Given the description of an element on the screen output the (x, y) to click on. 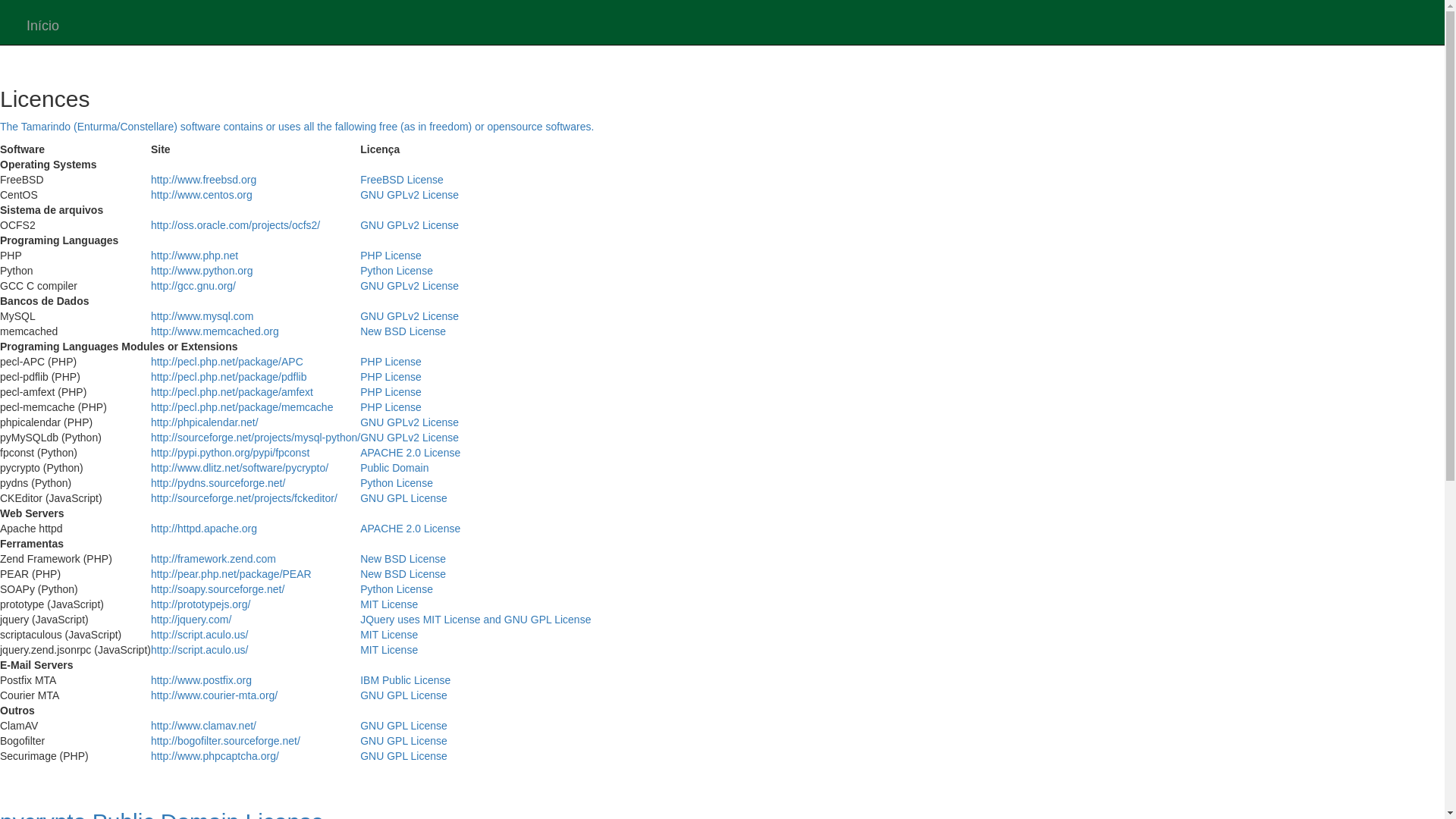
PHP License Element type: text (390, 376)
GNU GPL License Element type: text (403, 725)
PHP License Element type: text (390, 255)
GNU GPL License Element type: text (403, 498)
http://framework.zend.com Element type: text (213, 558)
PHP License Element type: text (390, 391)
http://jquery.com/ Element type: text (190, 619)
GNU GPLv2 License Element type: text (409, 285)
http://pecl.php.net/package/memcache Element type: text (241, 407)
http://oss.oracle.com/projects/ocfs2/ Element type: text (235, 225)
GNU GPLv2 License Element type: text (409, 437)
http://sourceforge.net/projects/fckeditor/ Element type: text (243, 498)
MIT License Element type: text (388, 604)
http://pypi.python.org/pypi/fpconst Element type: text (229, 452)
IBM Public License Element type: text (405, 680)
GNU GPLv2 License Element type: text (409, 194)
http://pear.php.net/package/PEAR Element type: text (230, 573)
http://pecl.php.net/package/APC Element type: text (226, 361)
http://phpicalendar.net/ Element type: text (204, 422)
http://www.python.org Element type: text (201, 270)
PHP License Element type: text (390, 407)
GNU GPL License Element type: text (403, 695)
http://soapy.sourceforge.net/ Element type: text (217, 589)
http://www.memcached.org Element type: text (214, 331)
http://bogofilter.sourceforge.net/ Element type: text (225, 740)
http://www.freebsd.org Element type: text (203, 179)
http://www.clamav.net/ Element type: text (203, 725)
APACHE 2.0 License Element type: text (410, 528)
GNU GPLv2 License Element type: text (409, 225)
Python License Element type: text (396, 482)
Public Domain Element type: text (394, 467)
http://script.aculo.us/ Element type: text (198, 634)
New BSD License Element type: text (402, 558)
GNU GPL License Element type: text (403, 740)
http://pecl.php.net/package/amfext Element type: text (231, 391)
GNU GPLv2 License Element type: text (409, 316)
http://prototypejs.org/ Element type: text (200, 604)
http://www.postfix.org Element type: text (200, 680)
http://www.courier-mta.org/ Element type: text (213, 695)
JQuery uses MIT License and GNU GPL License Element type: text (475, 619)
APACHE 2.0 License Element type: text (410, 452)
Python License Element type: text (396, 589)
http://httpd.apache.org Element type: text (203, 528)
http://sourceforge.net/projects/mysql-python/ Element type: text (255, 437)
Python License Element type: text (396, 270)
http://www.mysql.com Element type: text (201, 316)
FreeBSD License Element type: text (401, 179)
MIT License Element type: text (388, 649)
New BSD License Element type: text (402, 573)
MIT License Element type: text (388, 634)
http://www.dlitz.net/software/pycrypto/ Element type: text (239, 467)
PHP License Element type: text (390, 361)
http://www.centos.org Element type: text (201, 194)
GNU GPLv2 License Element type: text (409, 422)
http://www.phpcaptcha.org/ Element type: text (214, 755)
http://gcc.gnu.org/ Element type: text (192, 285)
http://pydns.sourceforge.net/ Element type: text (217, 482)
http://pecl.php.net/package/pdflib Element type: text (228, 376)
New BSD License Element type: text (402, 331)
GNU GPL License Element type: text (403, 755)
http://www.php.net Element type: text (194, 255)
http://script.aculo.us/ Element type: text (198, 649)
